Given the description of an element on the screen output the (x, y) to click on. 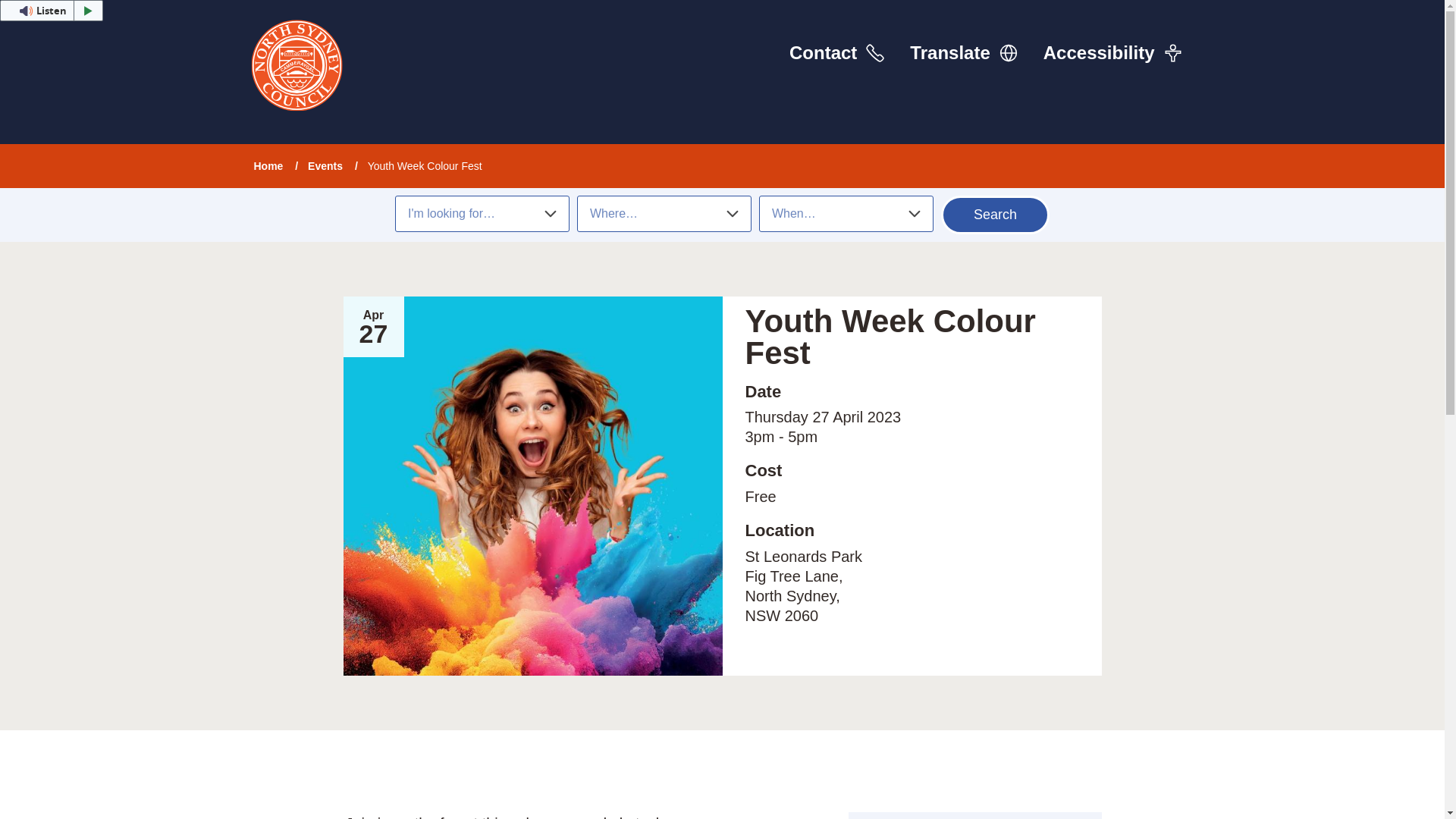
Contact (836, 51)
Translate (963, 51)
Accessibility (1111, 51)
Listen (51, 10)
Listen to this page using ReadSpeaker webReader (51, 10)
